Given the description of an element on the screen output the (x, y) to click on. 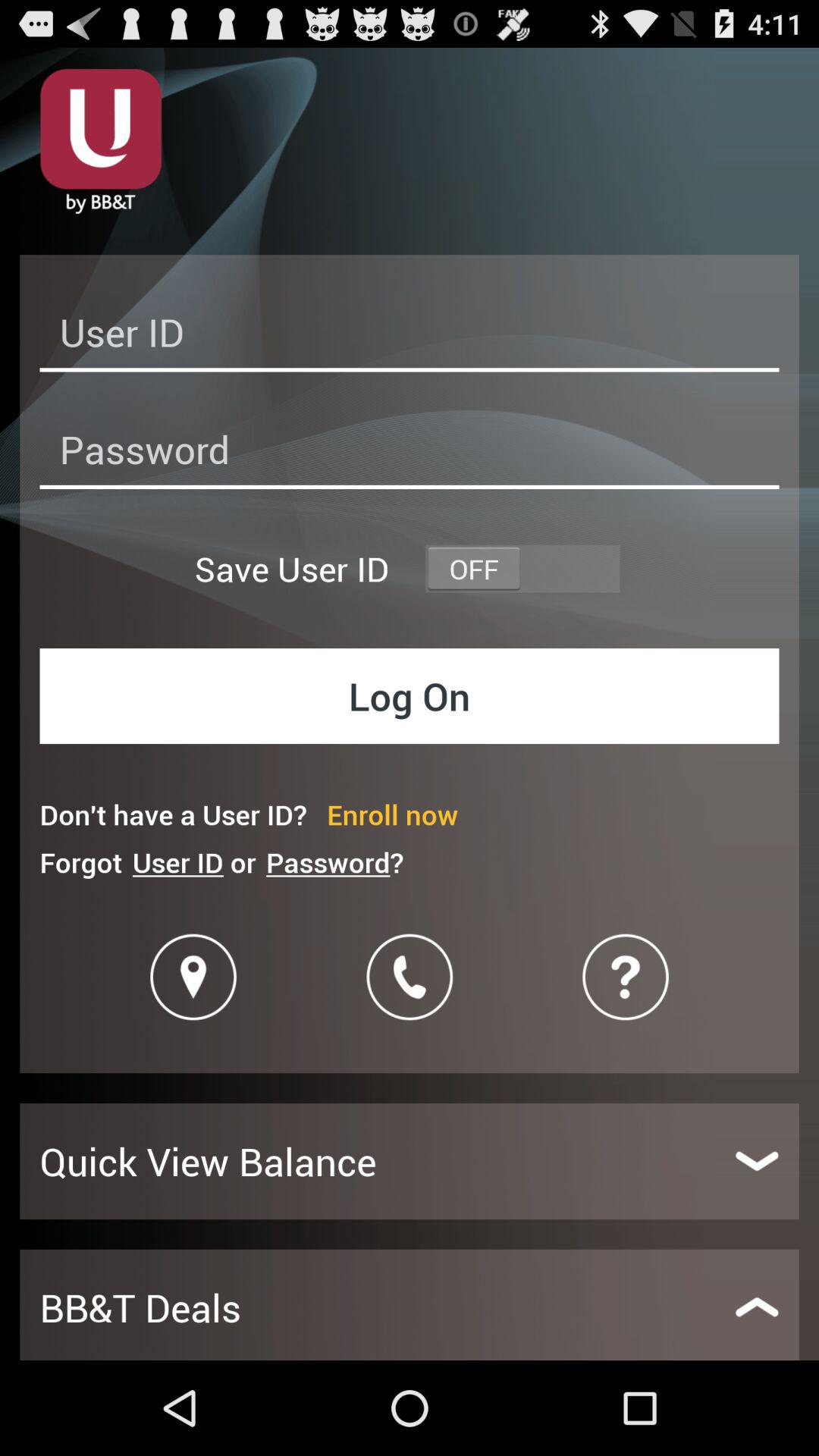
open item below the log on item (392, 814)
